Given the description of an element on the screen output the (x, y) to click on. 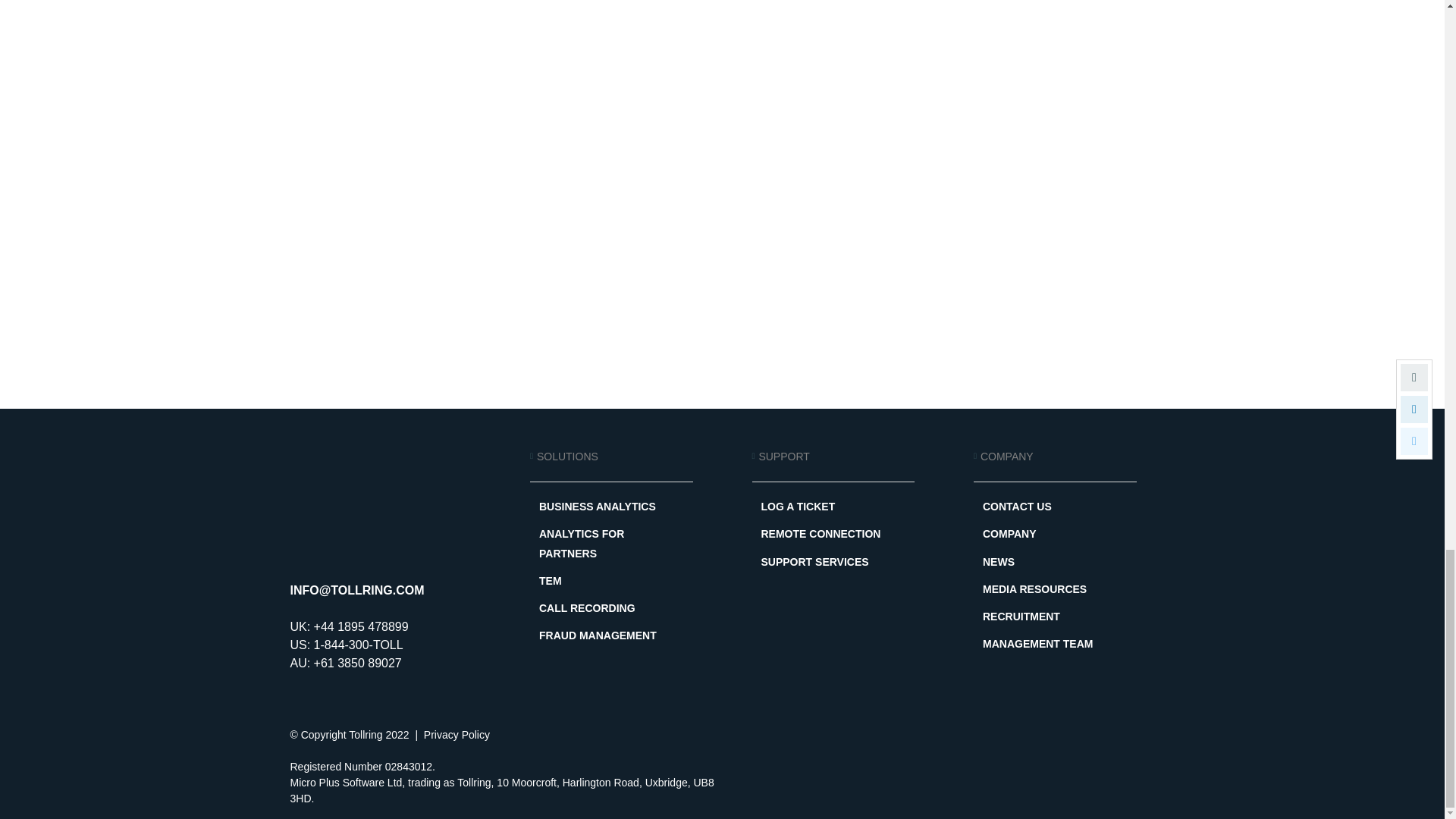
TEM (611, 580)
COMPANY (1055, 533)
BUSINESS ANALYTICS (611, 506)
RECRUITMENT (1055, 616)
REMOTE CONNECTION (833, 533)
MANAGEMENT TEAM (1055, 643)
CALL RECORDING (611, 608)
MEDIA RESOURCES (1055, 588)
LOG A TICKET (833, 506)
FRAUD MANAGEMENT (611, 635)
SUPPORT SERVICES (833, 561)
ANALYTICS FOR PARTNERS (611, 543)
Privacy Policy (456, 734)
CONTACT US (1055, 506)
NEWS (1055, 561)
